Given the description of an element on the screen output the (x, y) to click on. 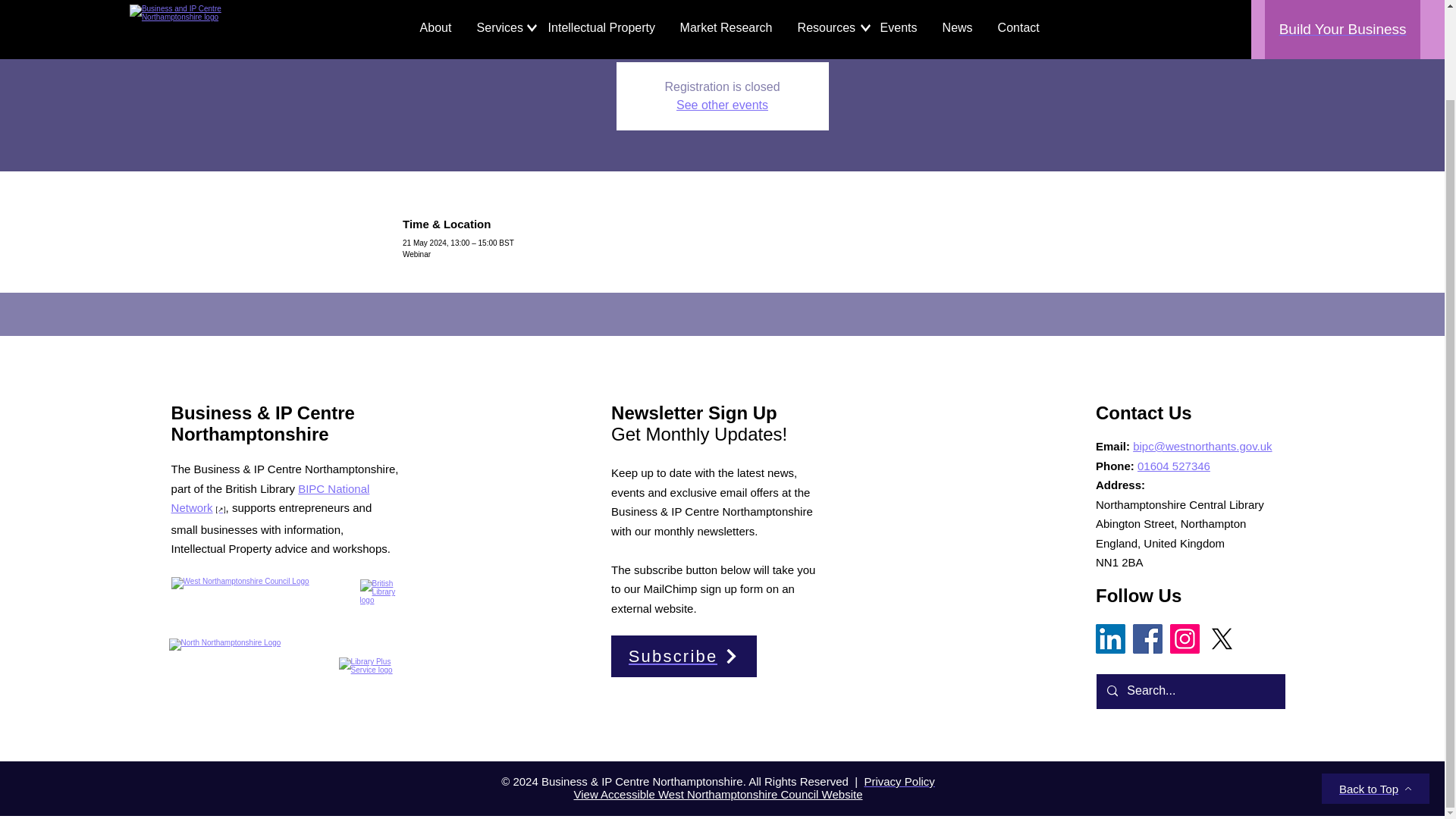
01604 527346 (1173, 465)
BIPC National Network (270, 498)
See other events (722, 104)
Back to Top (1375, 685)
Subscribe (684, 656)
